Given the description of an element on the screen output the (x, y) to click on. 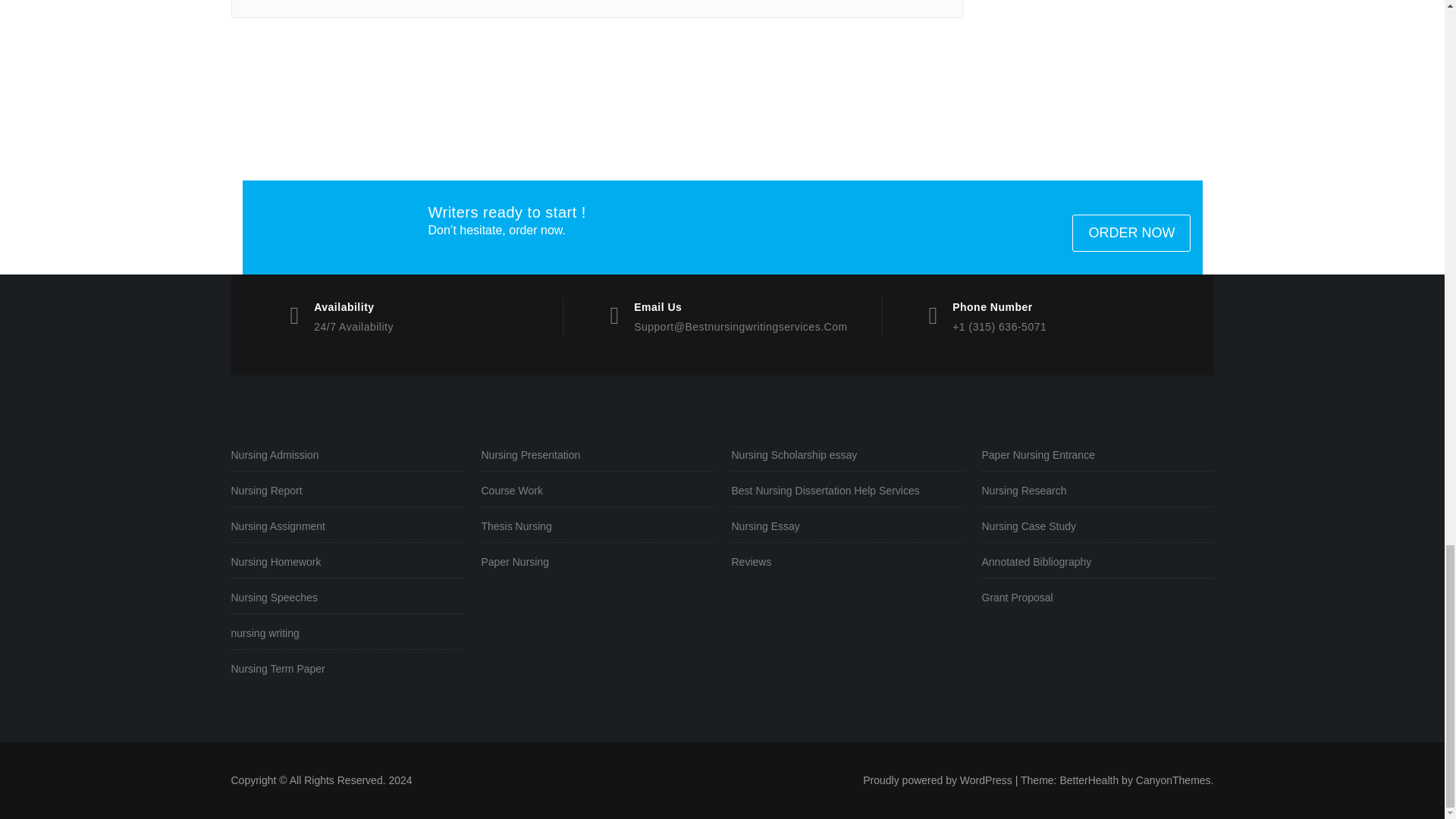
Thesis Nursing (596, 526)
nursing writing (346, 633)
Nursing Scholarship essay (846, 455)
Course Work (596, 490)
Nursing Case Study (1096, 526)
Reviews (846, 562)
Nursing Speeches (346, 597)
Paper Nursing (596, 562)
Nursing Admission (346, 455)
Paper Nursing Entrance (1096, 455)
Nursing Report (346, 490)
Nursing Essay (846, 526)
Nursing Term Paper (346, 668)
Nursing Assignment (346, 526)
Best Nursing Dissertation Help Services (846, 490)
